Given the description of an element on the screen output the (x, y) to click on. 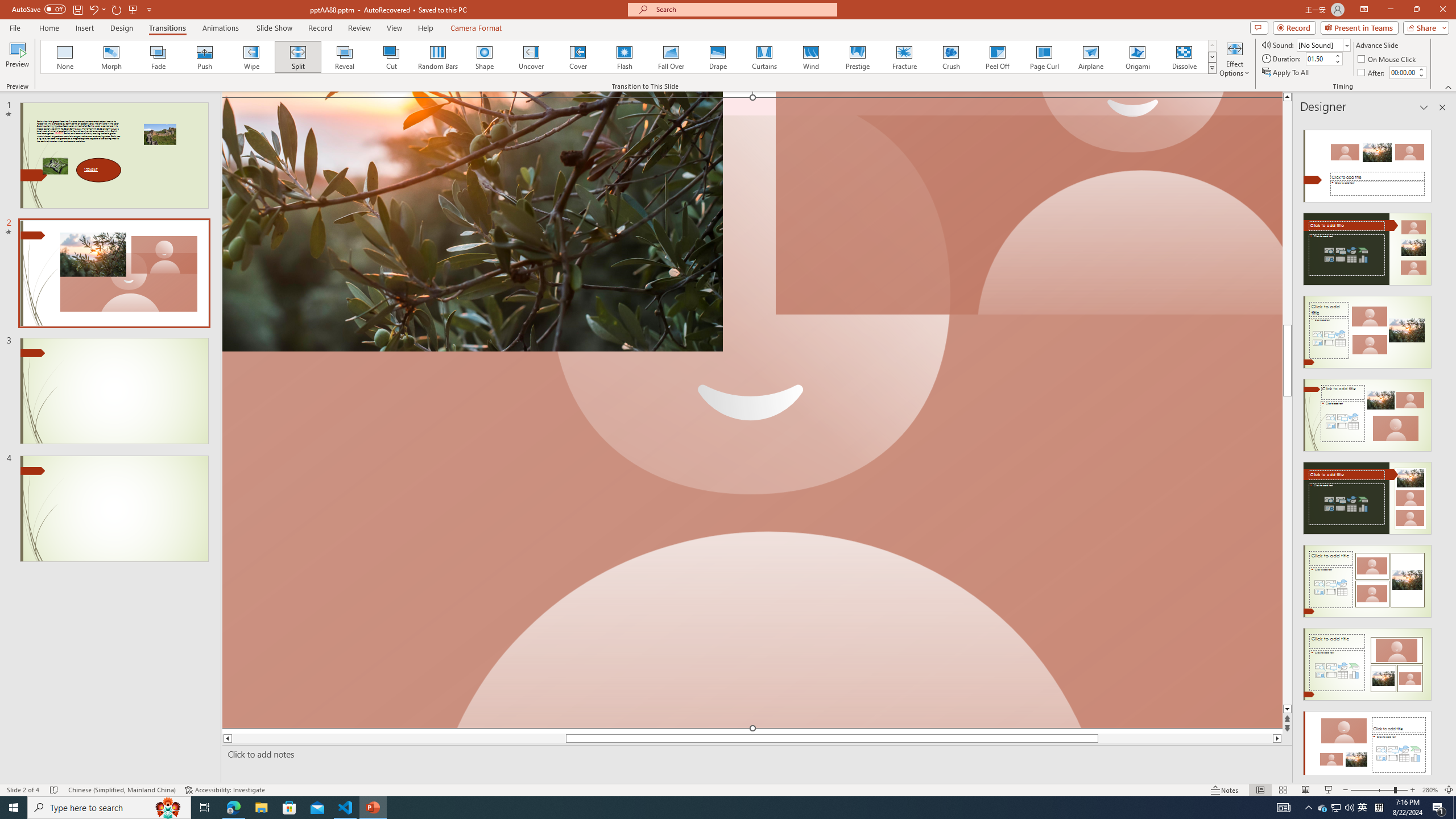
Design Idea (1366, 743)
Push (205, 56)
Recommended Design: Design Idea (1366, 162)
Morph (111, 56)
Cover (577, 56)
Apply To All (1286, 72)
Effect Options (1234, 58)
None (65, 56)
Origami (1136, 56)
